Given the description of an element on the screen output the (x, y) to click on. 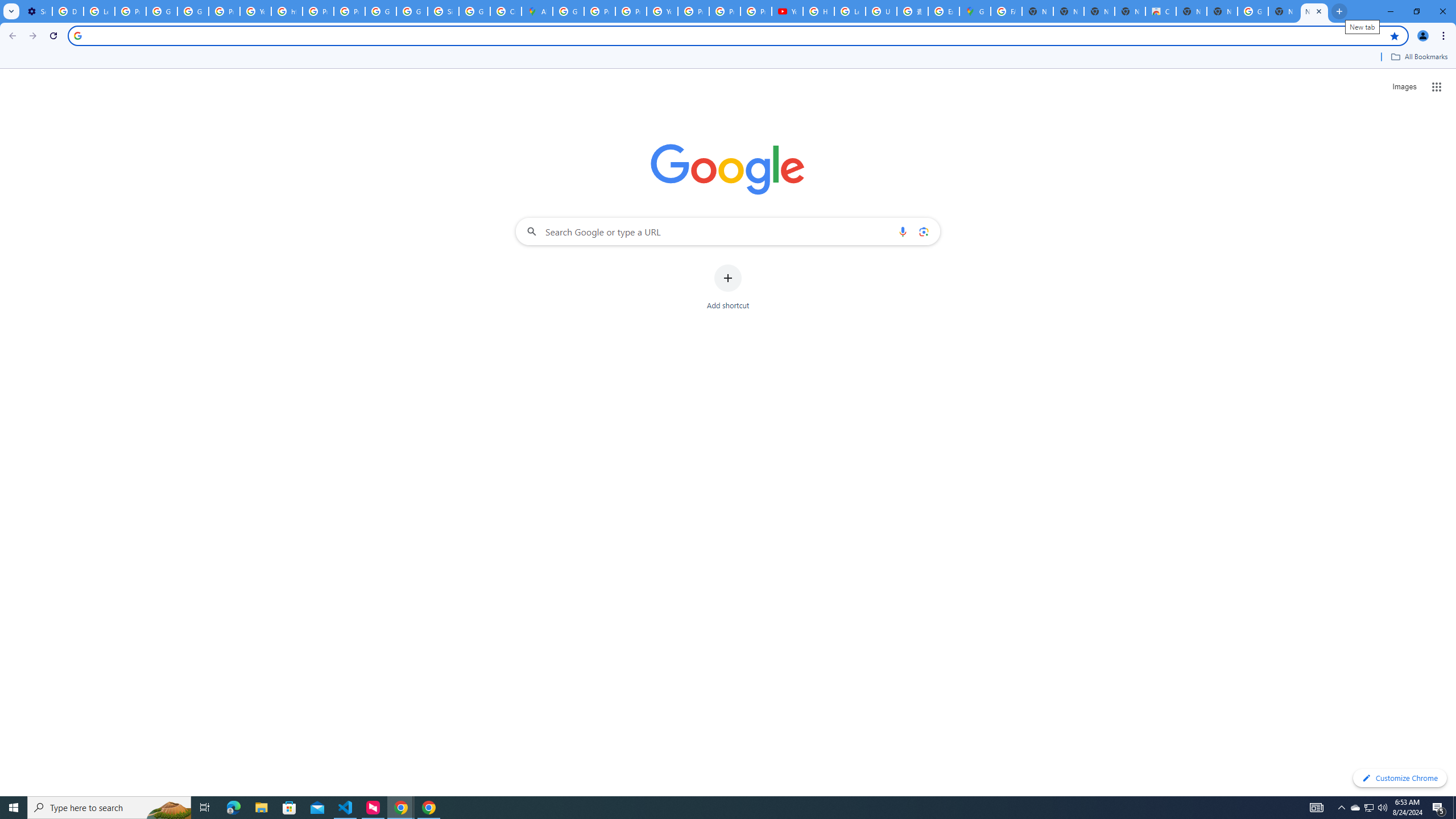
YouTube (662, 11)
Privacy Help Center - Policies Help (631, 11)
Create your Google Account (505, 11)
Explore new street-level details - Google Maps Help (943, 11)
How Chrome protects your passwords - Google Chrome Help (818, 11)
Search Google or type a URL (727, 230)
